Given the description of an element on the screen output the (x, y) to click on. 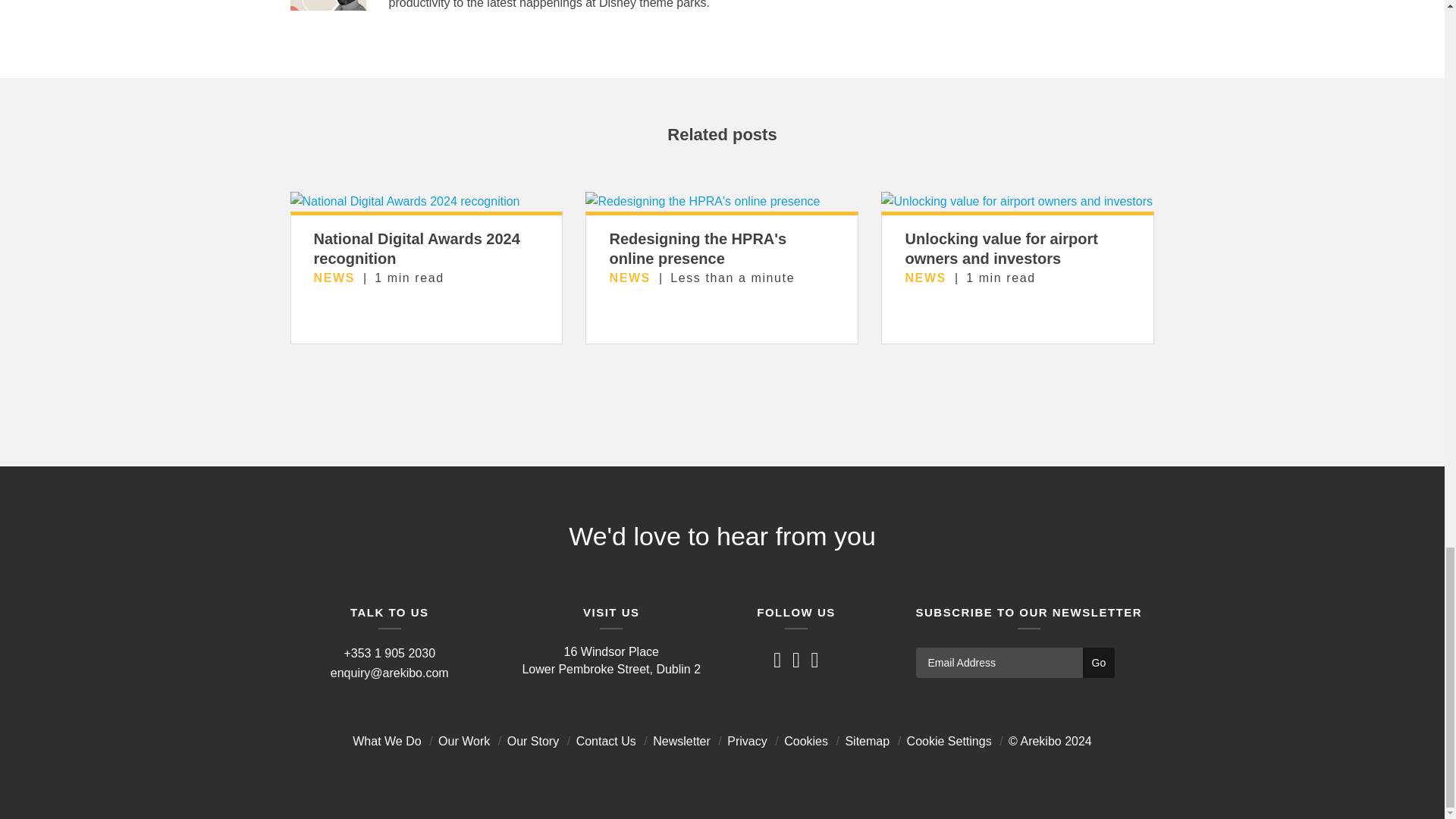
Twitter (776, 661)
NEWS (924, 277)
NEWS (628, 277)
Go (1099, 662)
Unlocking value for airport owners and investors (1000, 248)
National Digital Awards 2024 recognition (416, 248)
Redesigning the HPRA's online presence (697, 248)
NEWS (334, 277)
